Given the description of an element on the screen output the (x, y) to click on. 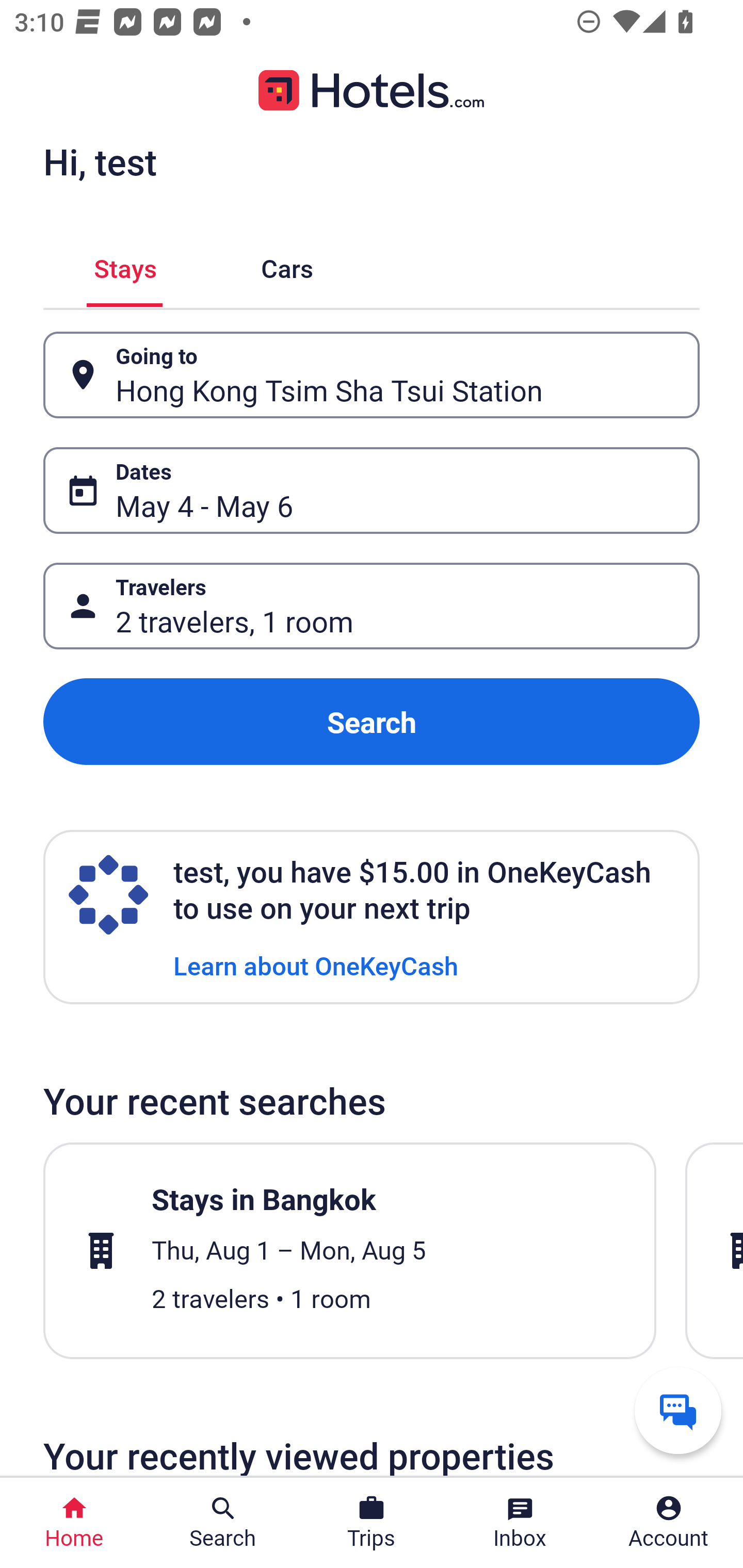
Hi, test (99, 161)
Cars (286, 265)
Going to Button Hong Kong Tsim Sha Tsui Station (371, 375)
Dates Button May 4 - May 6 (371, 489)
Travelers Button 2 travelers, 1 room (371, 605)
Search (371, 721)
Learn about OneKeyCash Learn about OneKeyCash Link (315, 964)
Get help from a virtual agent (677, 1410)
Search Search Button (222, 1522)
Trips Trips Button (371, 1522)
Inbox Inbox Button (519, 1522)
Account Profile. Button (668, 1522)
